Given the description of an element on the screen output the (x, y) to click on. 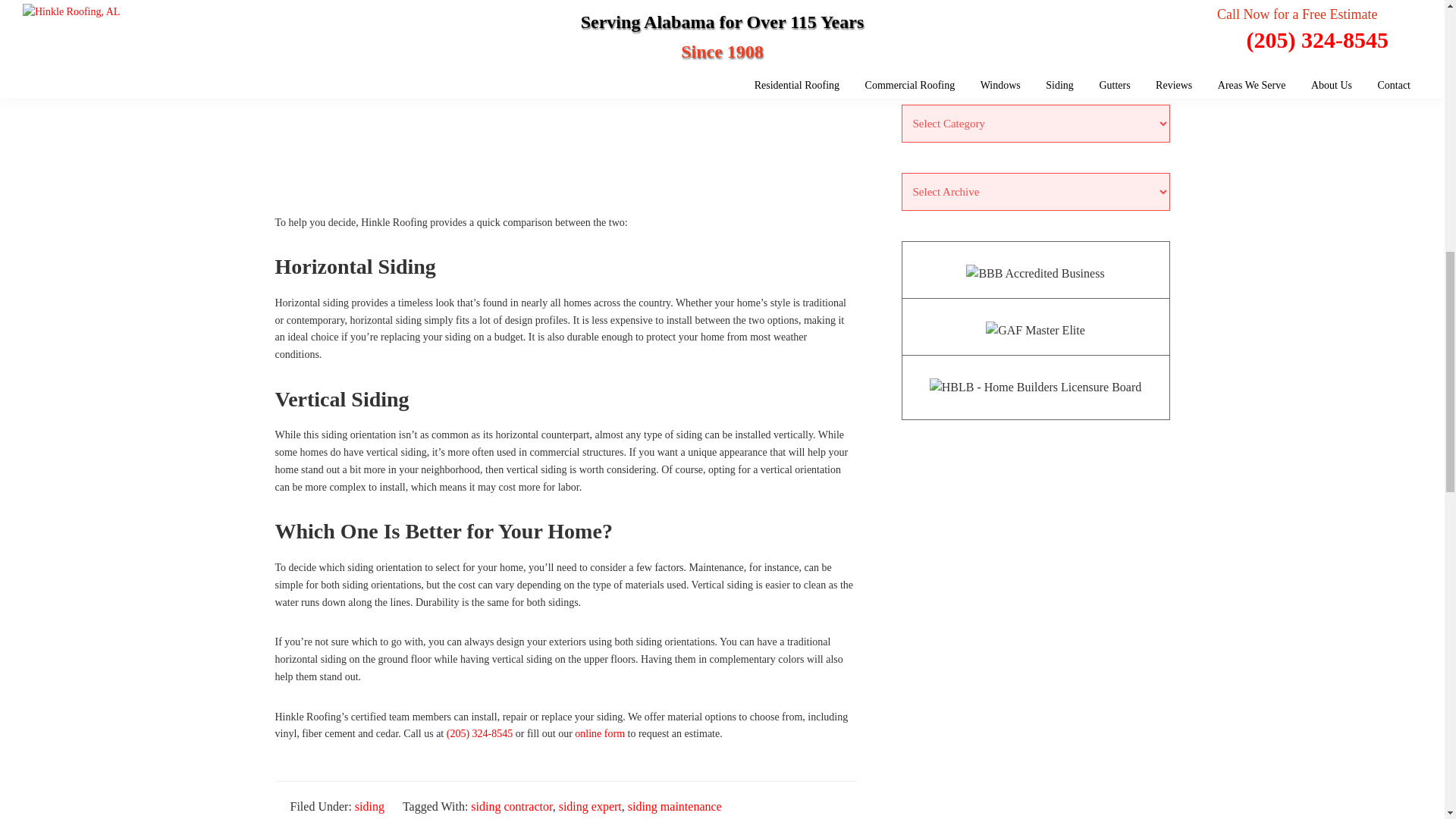
BBB Accredited Business (1034, 273)
GAF Master Elite (1034, 330)
HBLB - Home Builders Licensure Board (1035, 387)
